Given the description of an element on the screen output the (x, y) to click on. 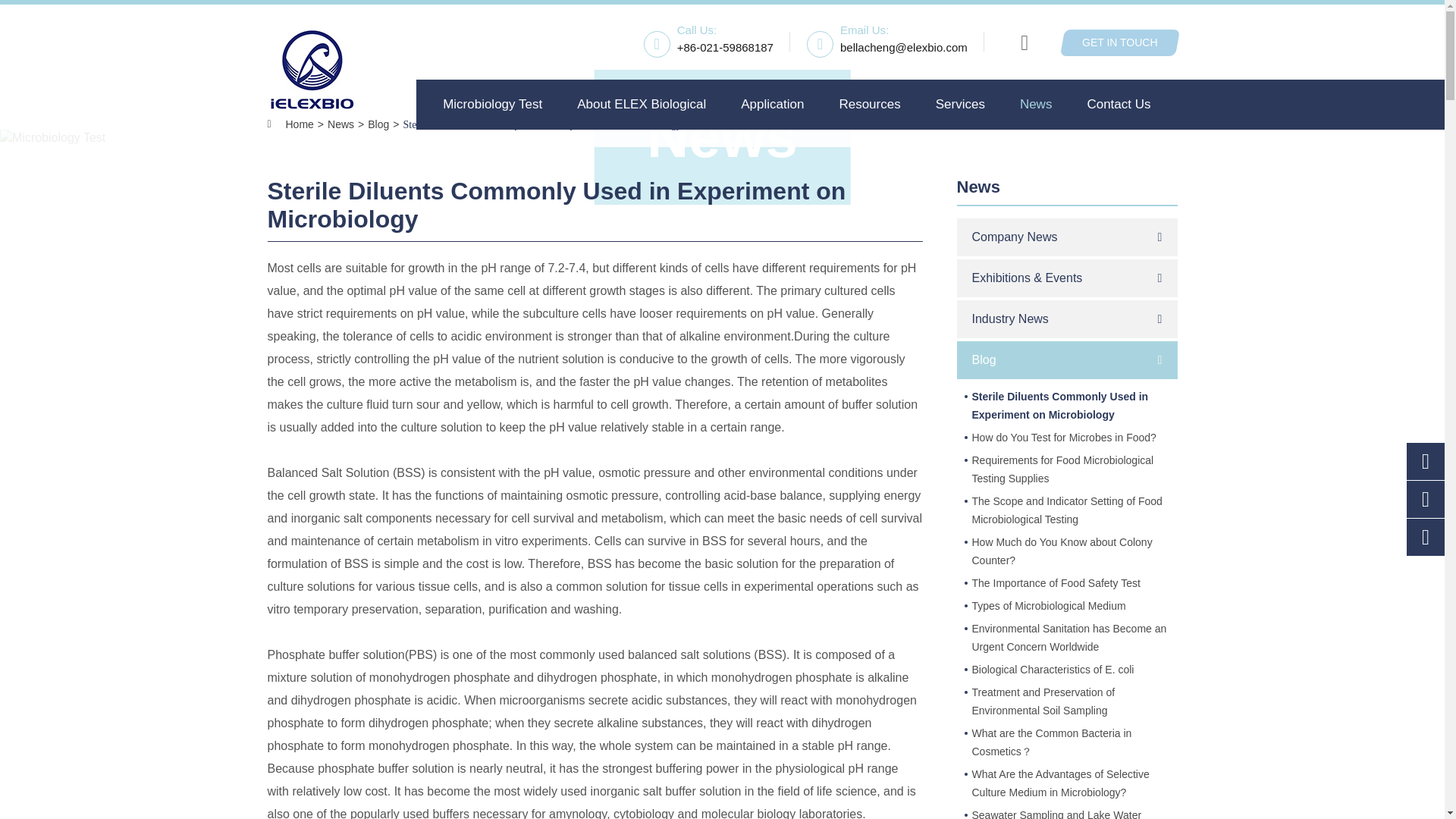
Application (772, 104)
Resources (868, 104)
Microbiology Test (491, 104)
GET IN TOUCH (1119, 41)
About ELEX Biological (641, 104)
